Given the description of an element on the screen output the (x, y) to click on. 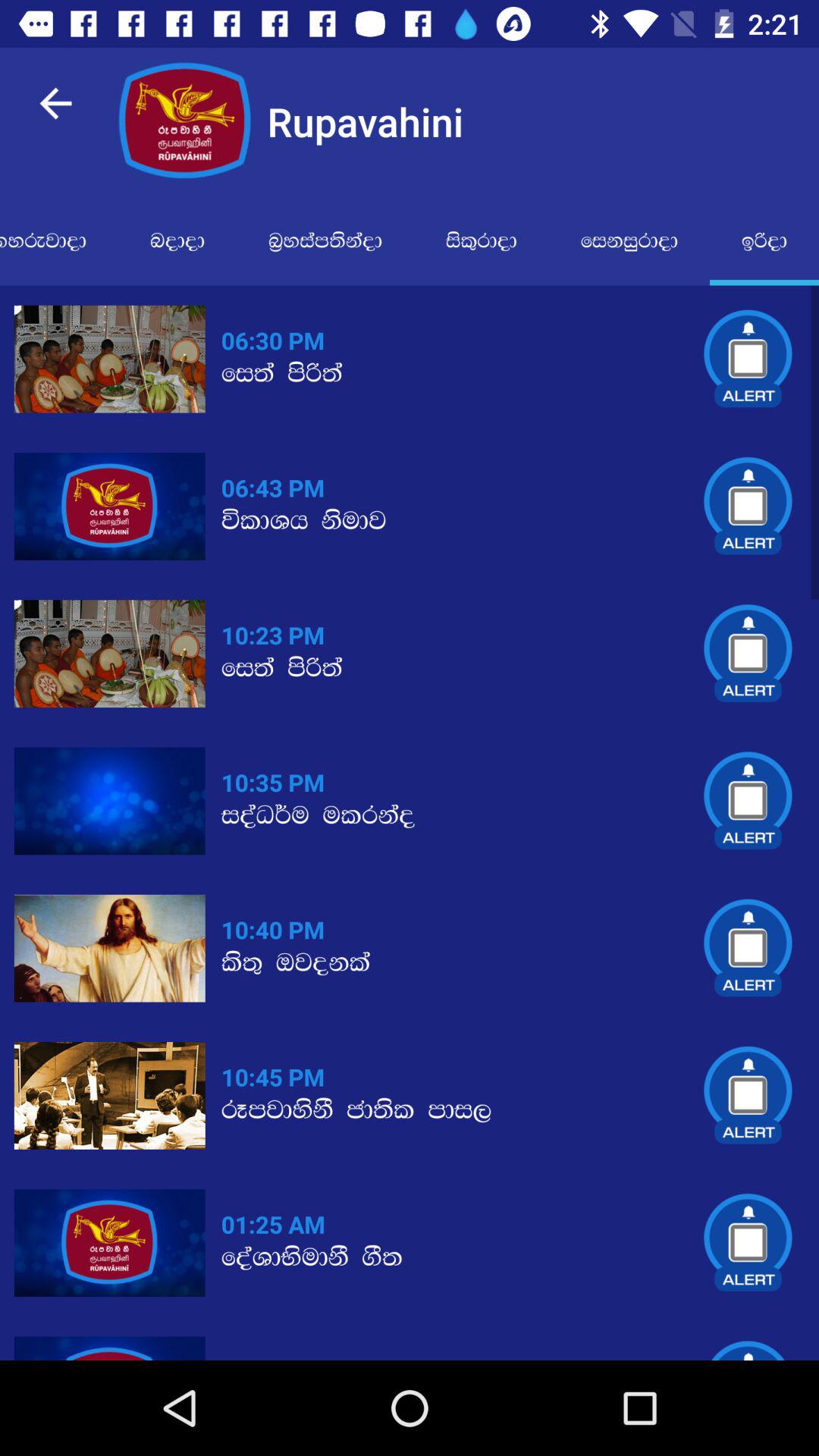
click on 4th alert icon (748, 800)
click on 6th alert icon (748, 1095)
select the image which is just beside 1040 pm (109, 949)
select the alert icon which is right to the 1023 pm (748, 653)
select the alert icon which is right to the 0125 am (748, 1243)
